Given the description of an element on the screen output the (x, y) to click on. 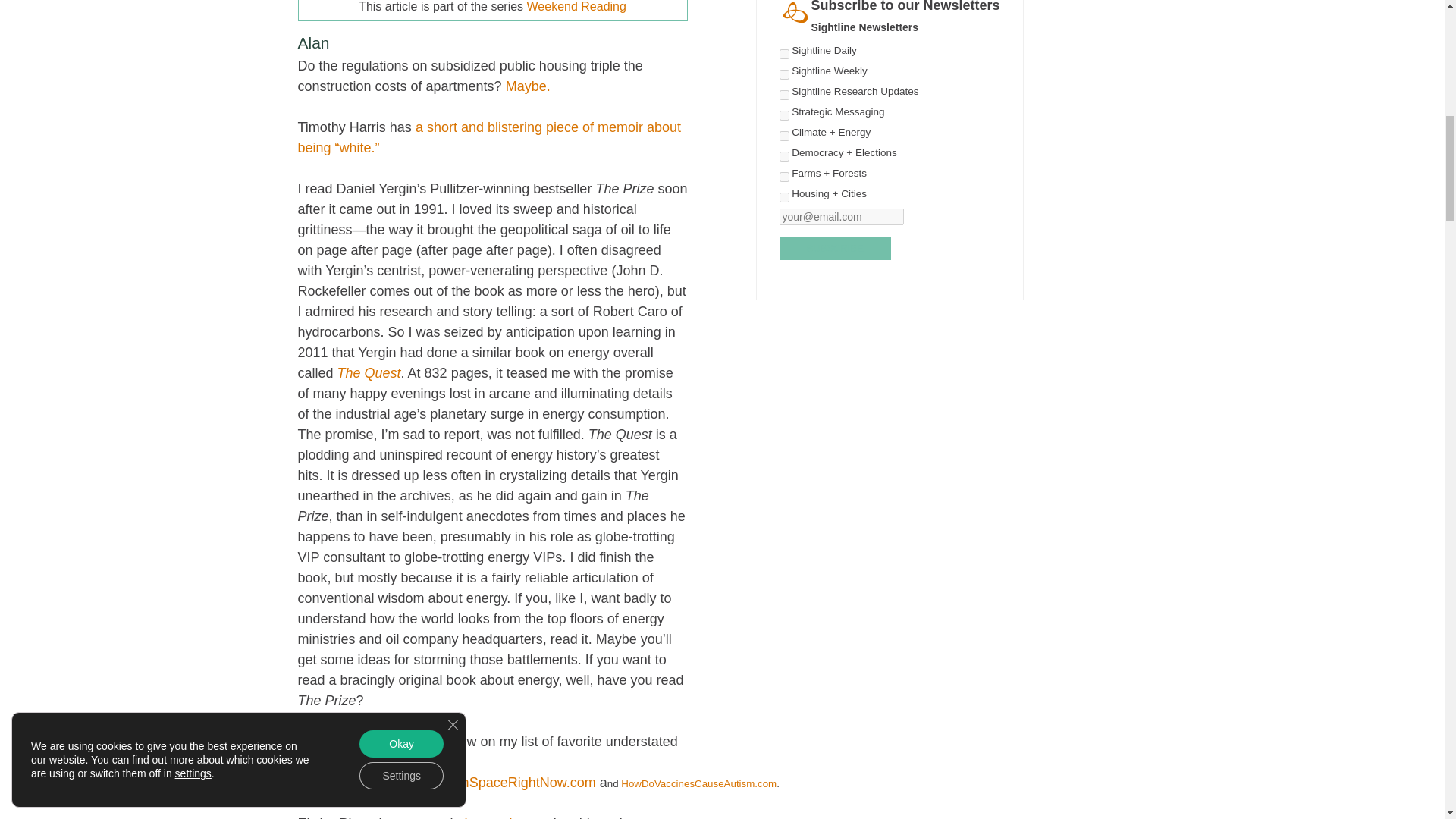
subscribe (834, 248)
